Given the description of an element on the screen output the (x, y) to click on. 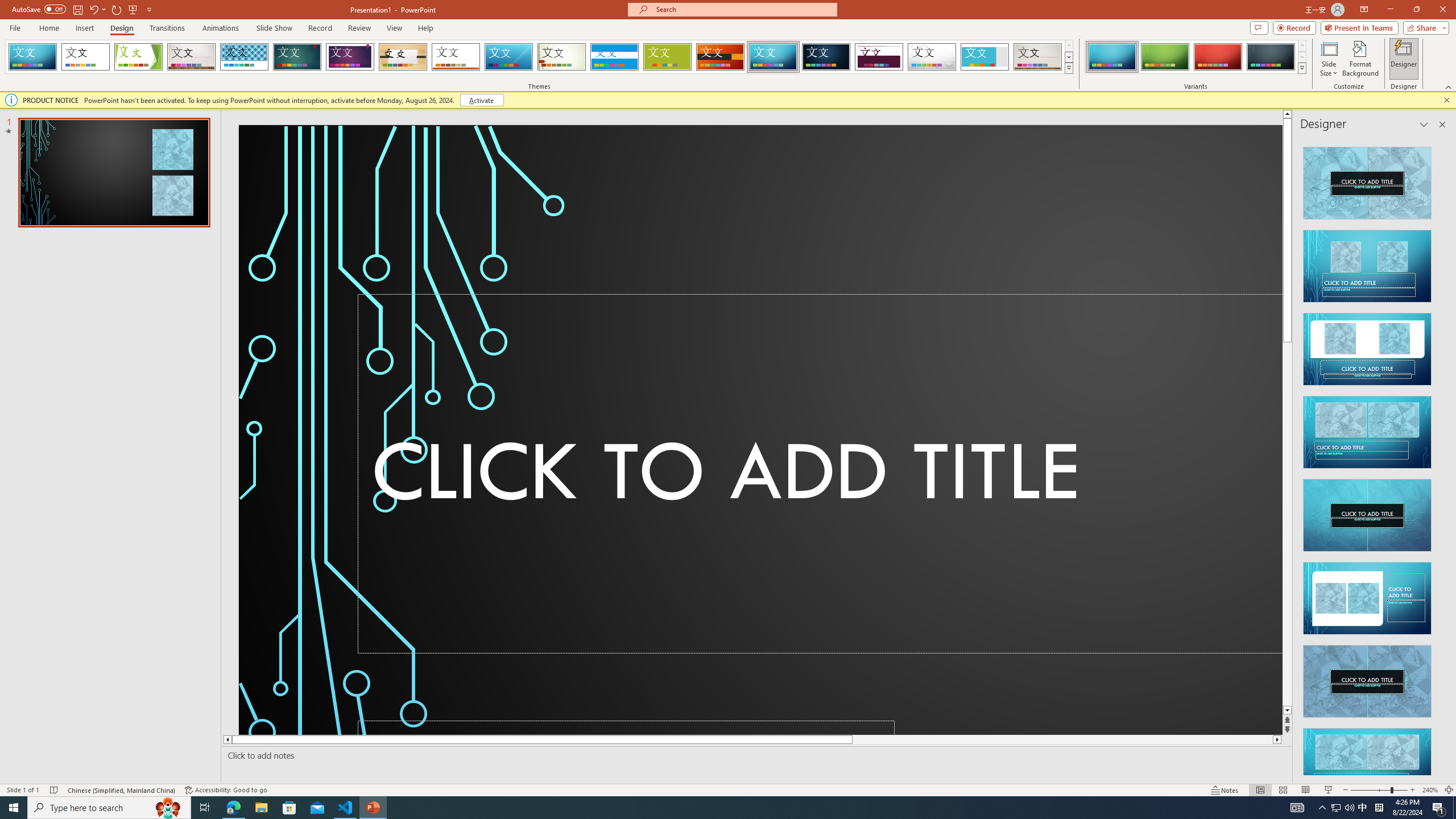
Slice (508, 56)
Ion Boardroom (350, 56)
Row Down (1301, 56)
Close this message (1446, 99)
Class: MsoCommandBar (728, 789)
Circuit Variant 3 (1217, 56)
Microsoft search (742, 9)
